Given the description of an element on the screen output the (x, y) to click on. 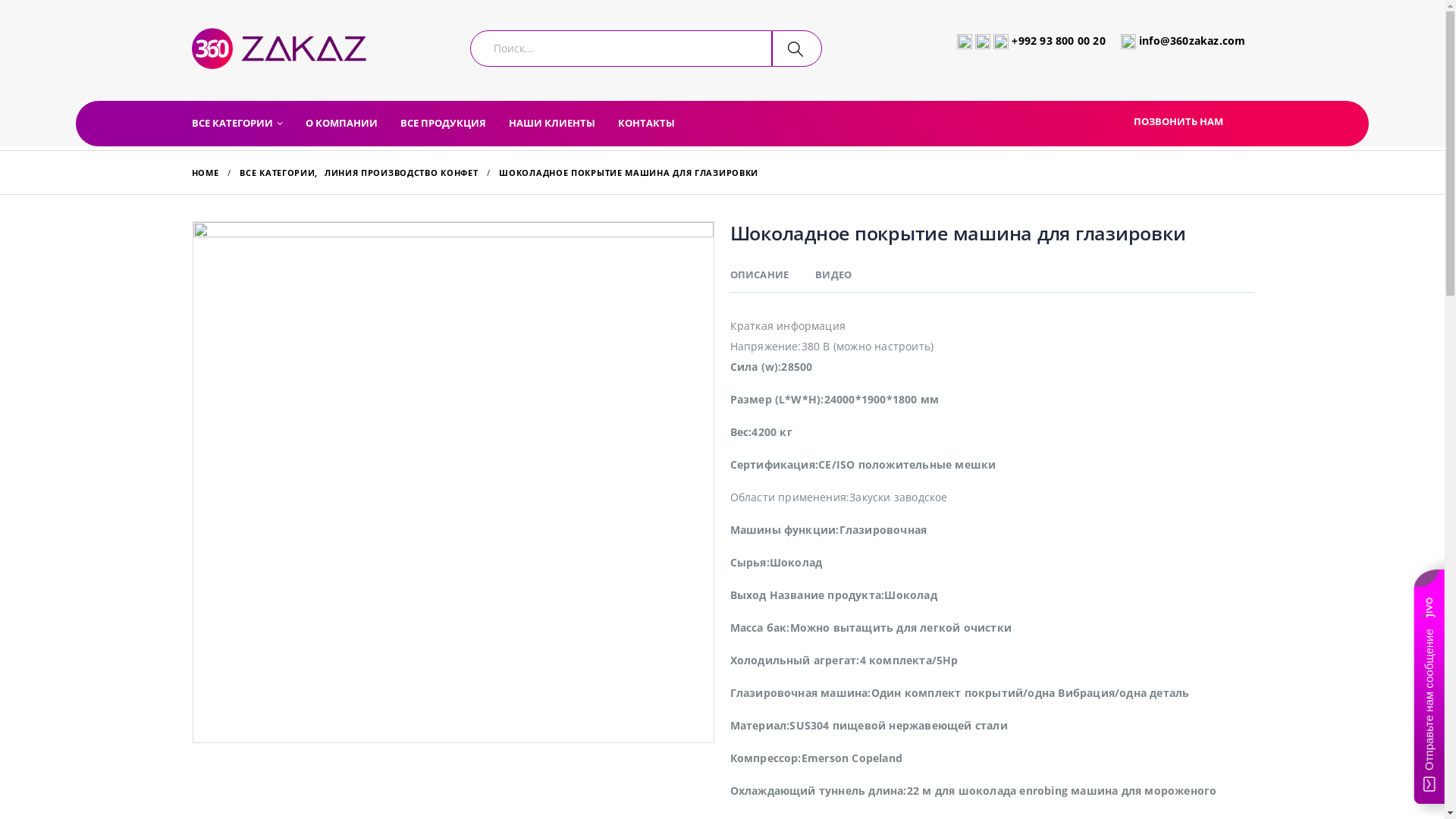
Search Element type: hover (796, 48)
HOME Element type: text (204, 172)
